Given the description of an element on the screen output the (x, y) to click on. 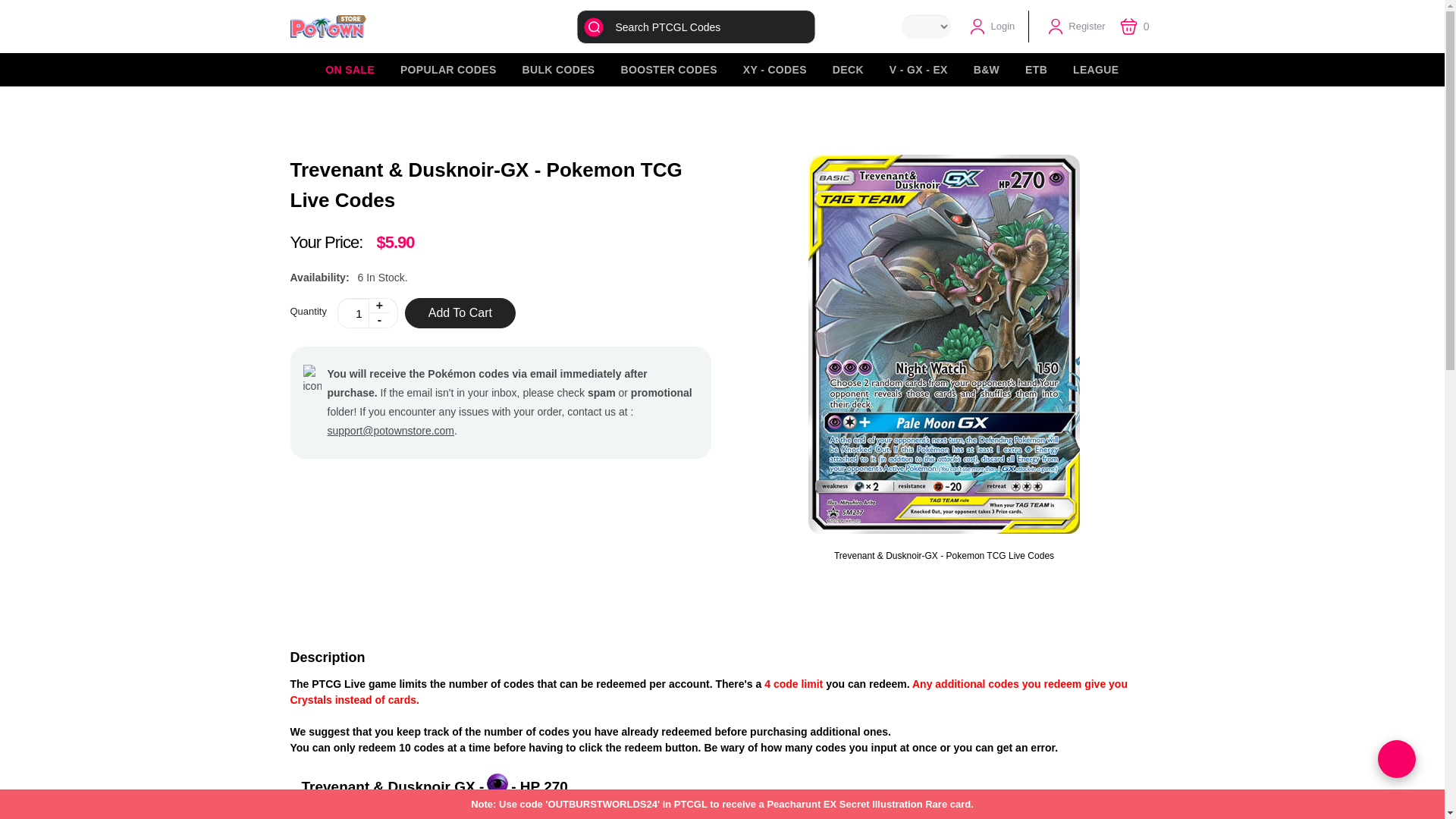
1 (367, 313)
XY - CODES (775, 69)
GIFT CARDS (1384, 69)
ALL CODES (1294, 69)
BLISTER PROMO (1189, 69)
0 (1136, 26)
ETB (1035, 69)
DECK (848, 69)
V - GX - EX (918, 69)
Login (991, 26)
